Given the description of an element on the screen output the (x, y) to click on. 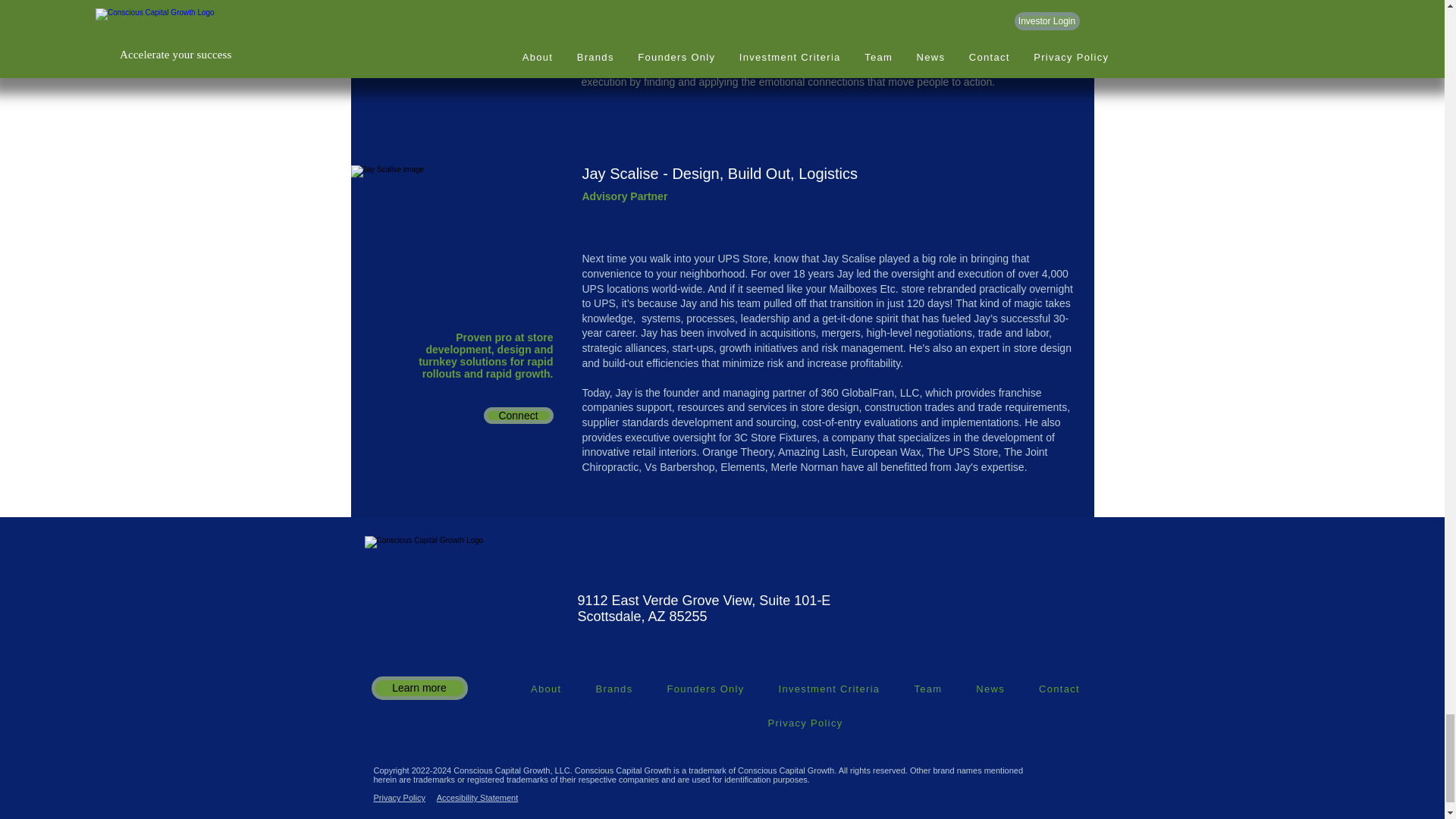
Founders Only (705, 689)
About (545, 689)
Learn more (419, 688)
Team (927, 689)
Privacy Policy (805, 723)
Contact (1059, 689)
Investment Criteria (828, 689)
Brands (613, 689)
Connect (518, 415)
Connect (518, 39)
